Given the description of an element on the screen output the (x, y) to click on. 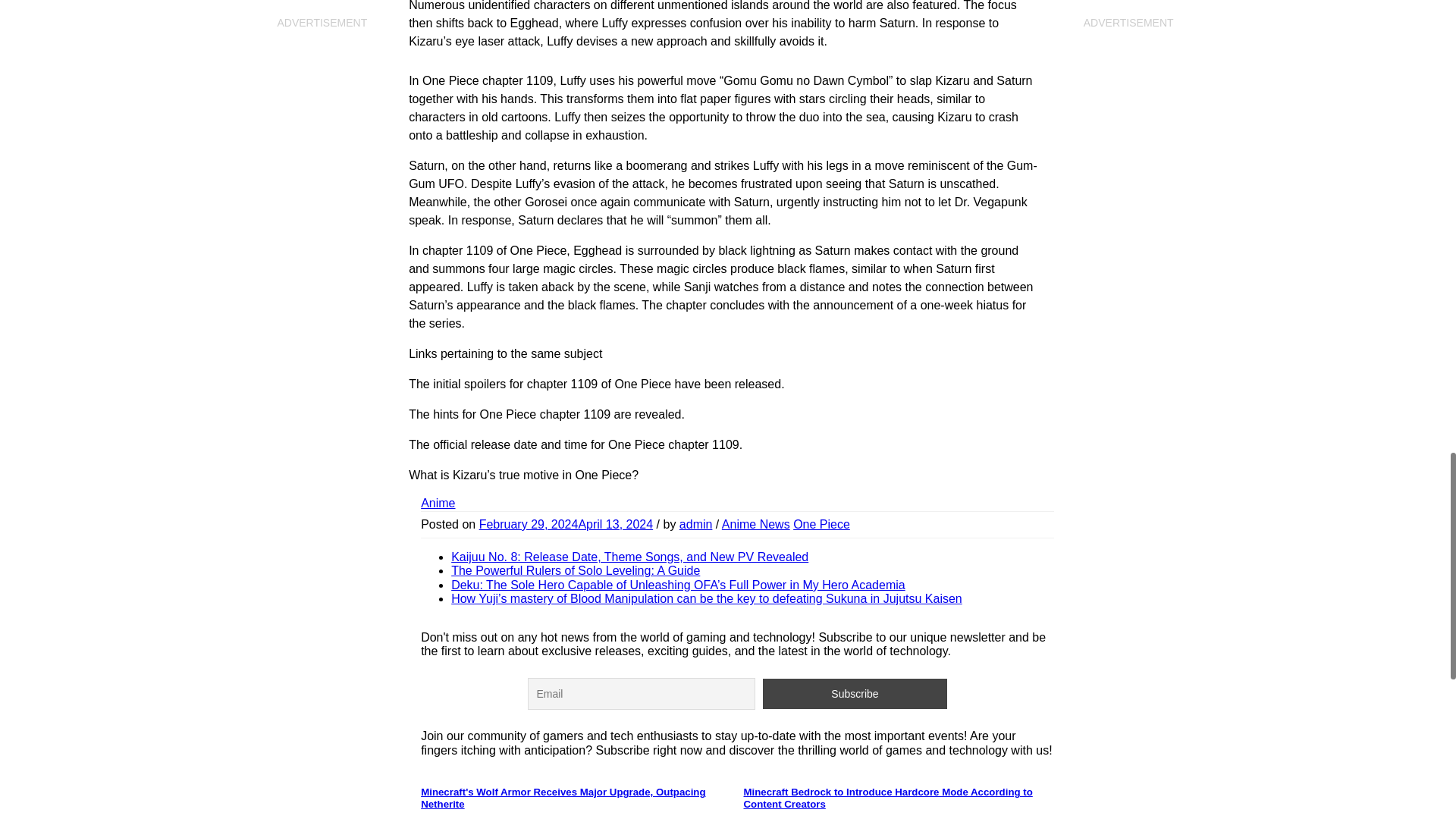
Subscribe (854, 693)
Kaijuu No. 8: Release Date, Theme Songs, and New PV Revealed (629, 556)
The Powerful Rulers of Solo Leveling: A Guide (575, 570)
One Piece (821, 523)
Anime (437, 502)
Anime News (756, 523)
admin (696, 523)
Subscribe (854, 693)
February 29, 2024April 13, 2024 (565, 523)
